Given the description of an element on the screen output the (x, y) to click on. 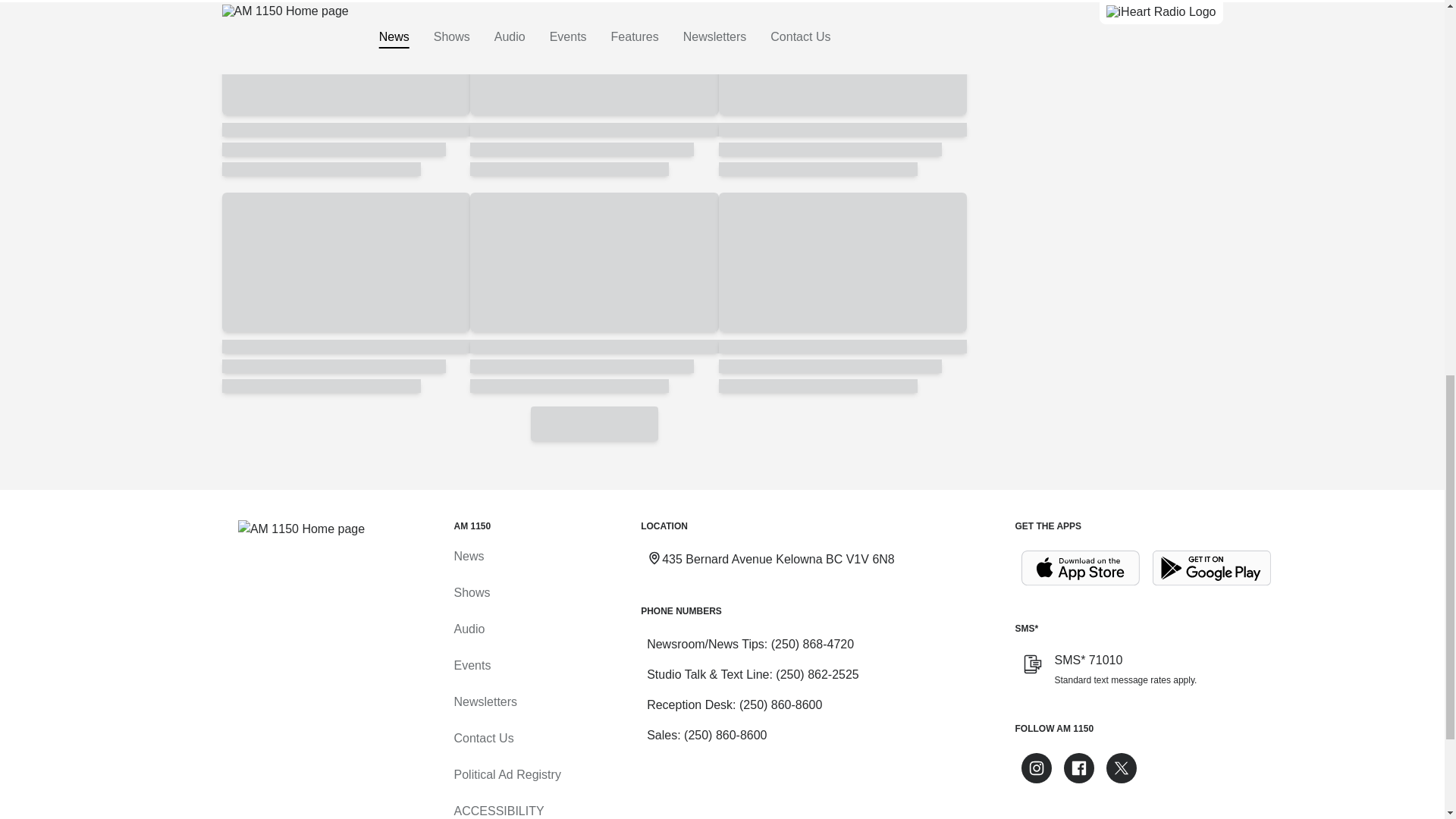
News (467, 555)
Contact Us (482, 738)
Political Ad Registry (506, 774)
Download on the App Store (1080, 568)
Events (471, 665)
Accessibility (497, 811)
ACCESSIBILITY (497, 811)
Shows (470, 592)
Audio (468, 628)
Get it on Google Play (1212, 568)
